Given the description of an element on the screen output the (x, y) to click on. 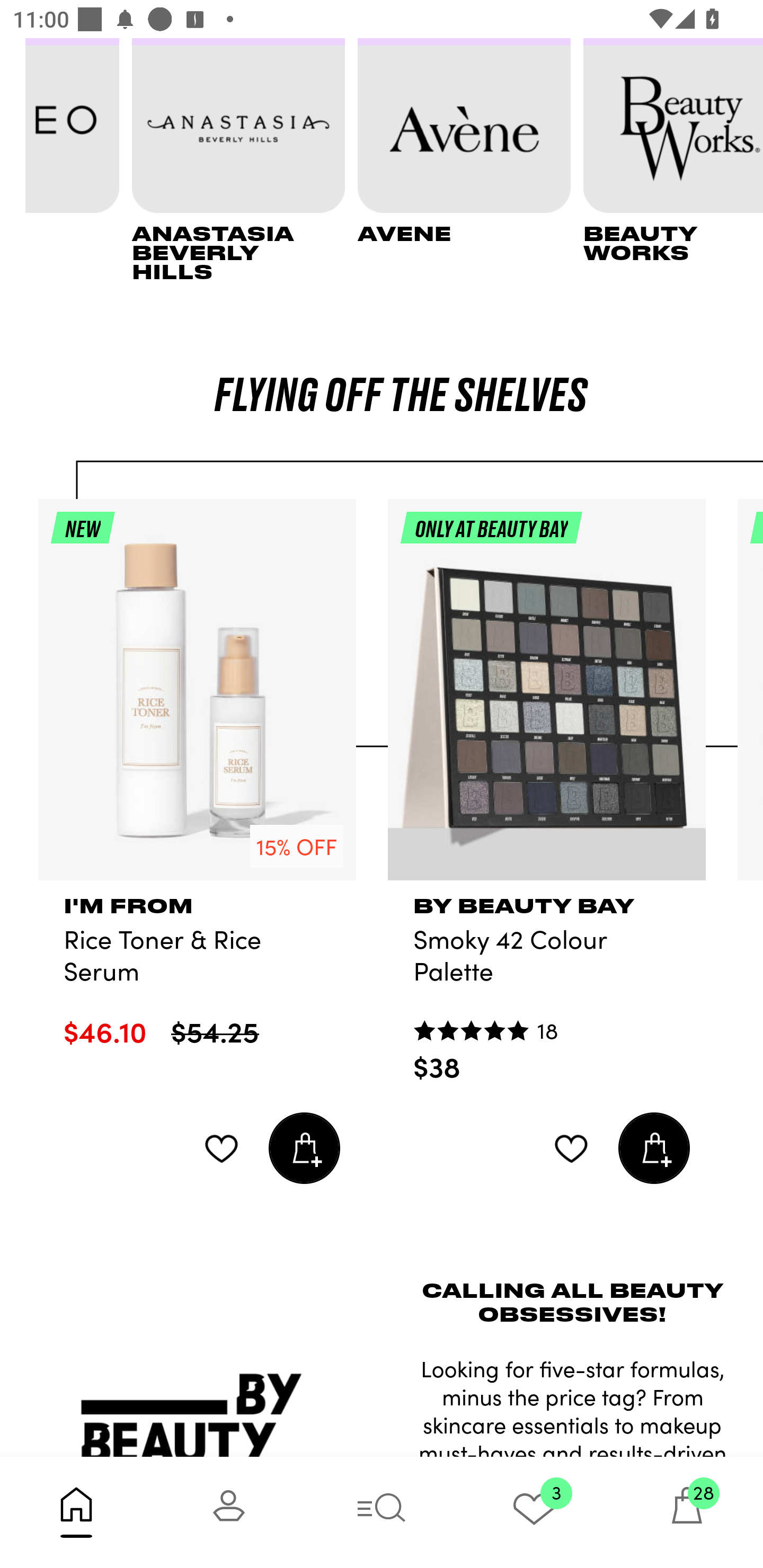
ANASTASIA BEVERLY HILLS (244, 159)
AVÈNE (470, 159)
BEAUTY WORKS (673, 159)
NEW 15% OFF (197, 697)
ONLY AT BEAUTY BAY (546, 697)
I'M FROM Rice Toner & Rice Serum $46.10 $54.25 (197, 979)
BY BEAUTY BAY Smoky 42 Colour Palette 18 $38 (546, 996)
3 (533, 1512)
28 (686, 1512)
